Given the description of an element on the screen output the (x, y) to click on. 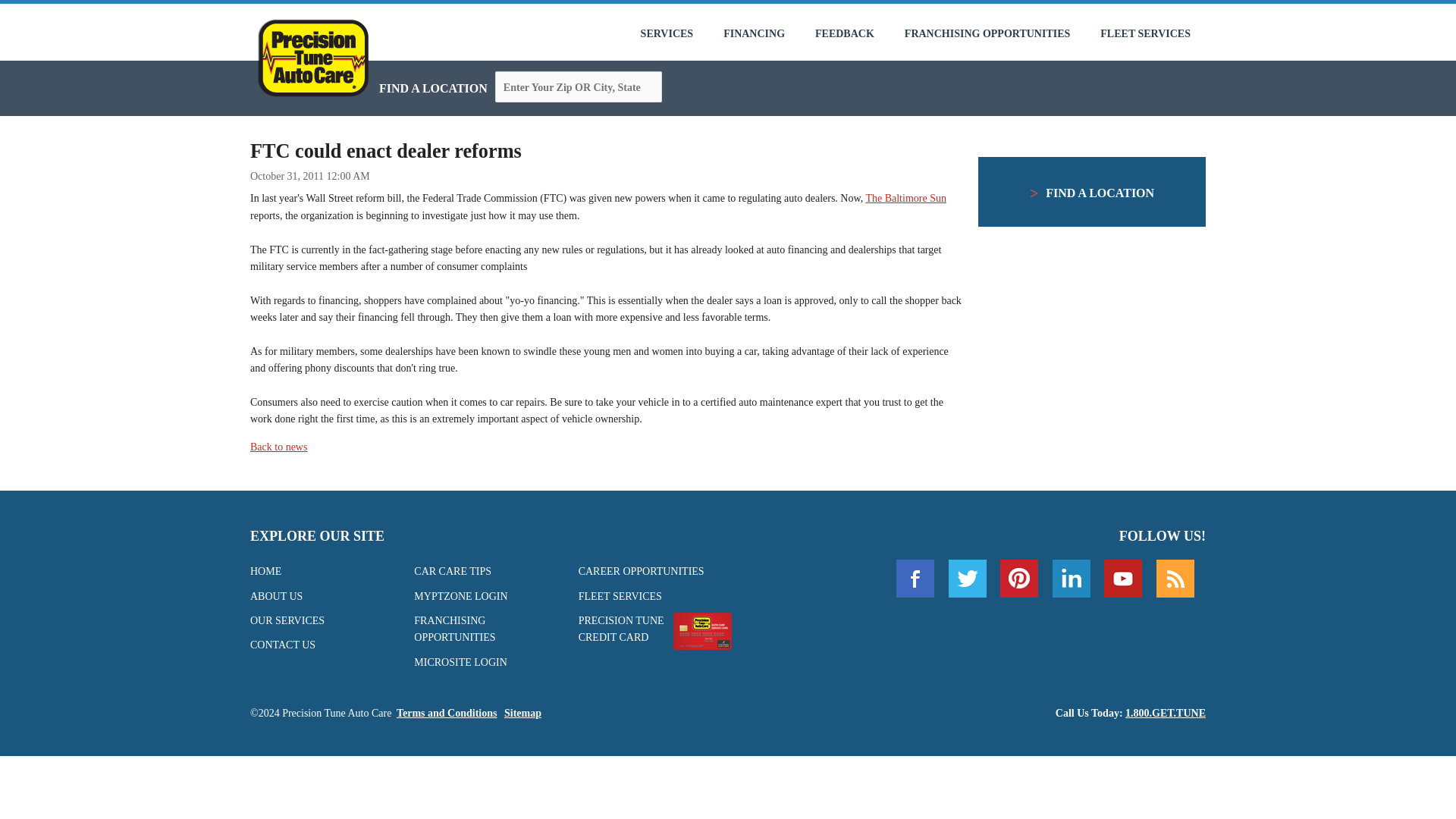
SERVICES (667, 33)
Locate (678, 88)
